Given the description of an element on the screen output the (x, y) to click on. 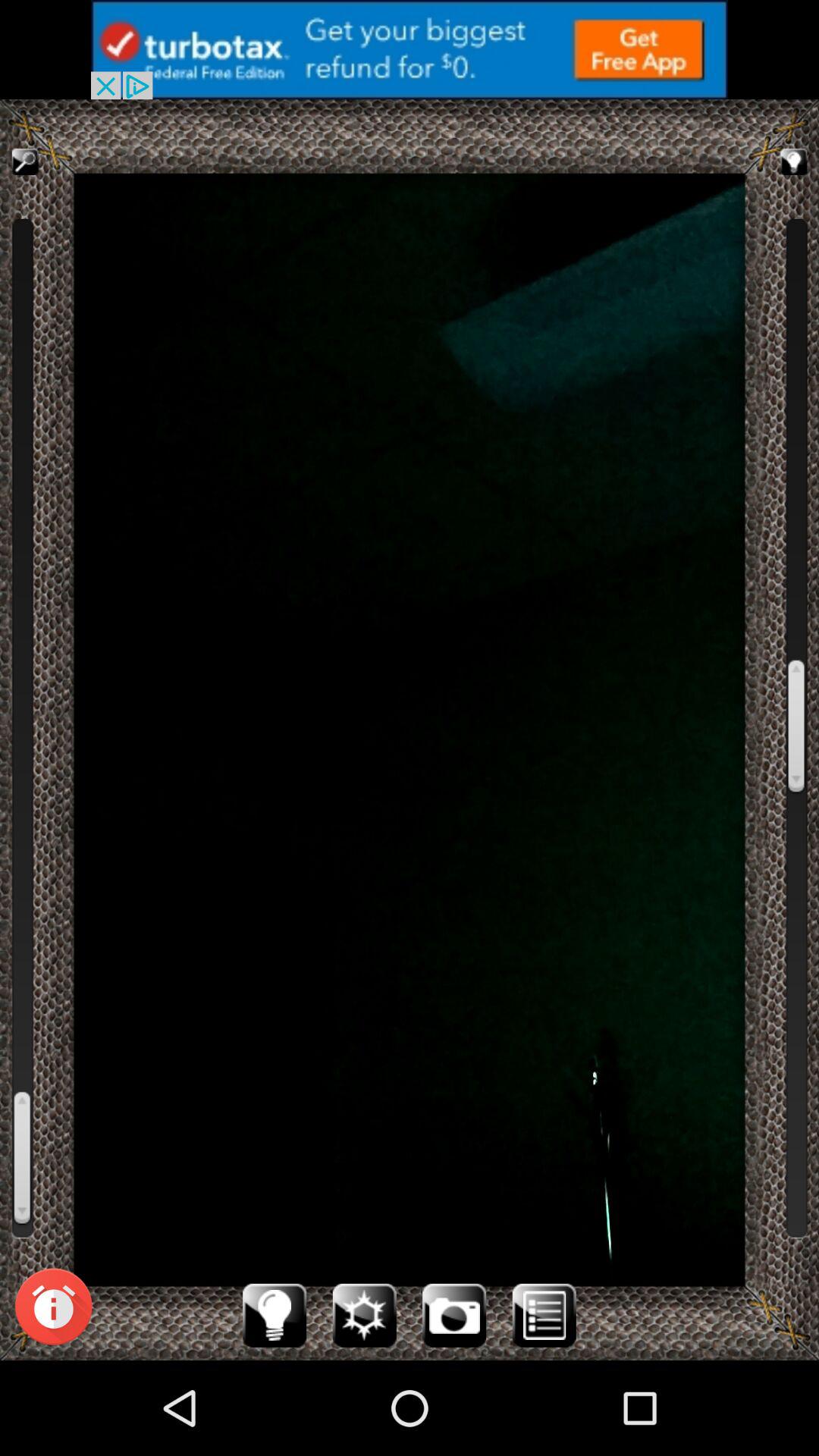
add filter (364, 1315)
